Given the description of an element on the screen output the (x, y) to click on. 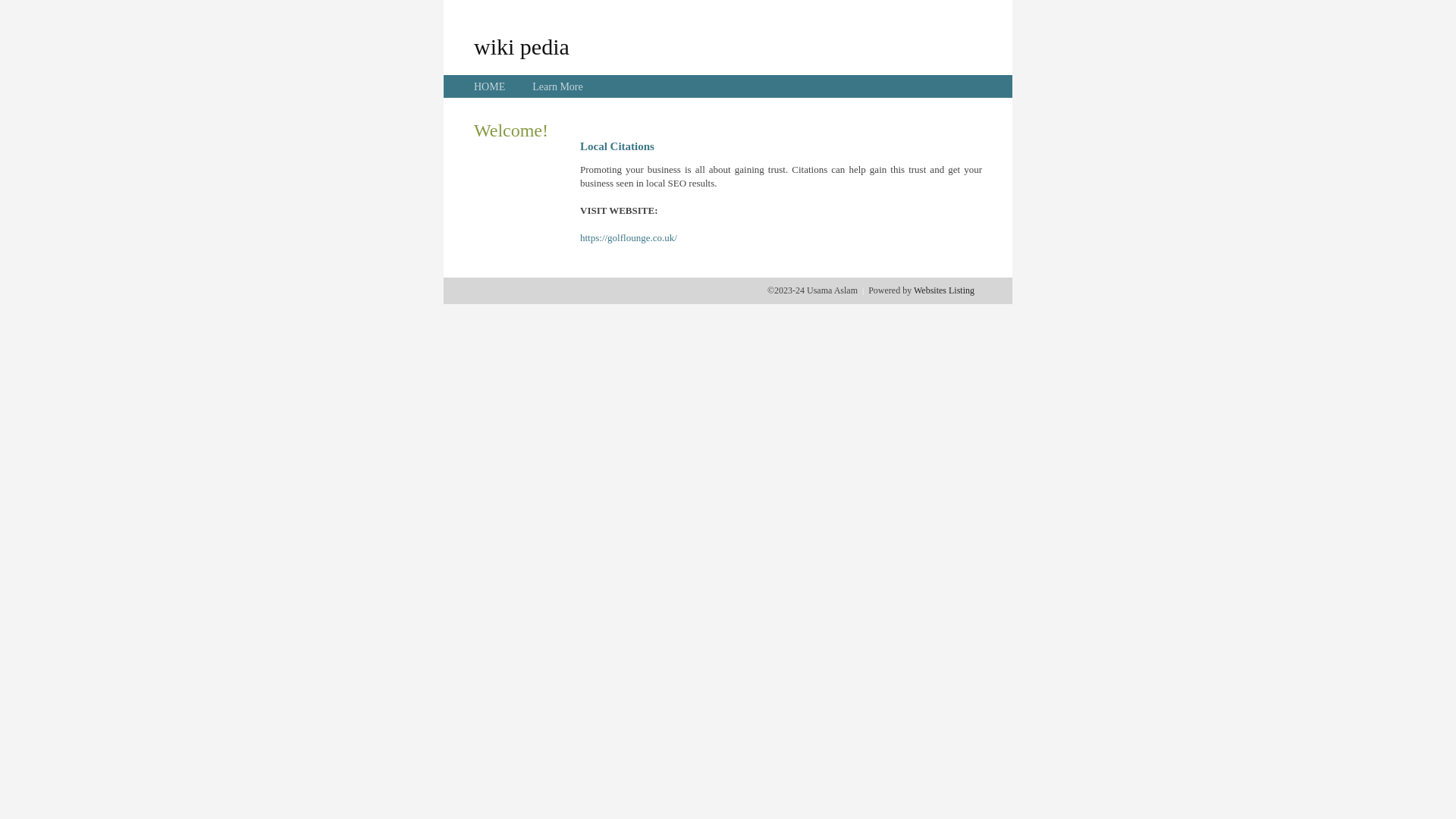
Learn More Element type: text (557, 86)
Websites Listing Element type: text (943, 290)
HOME Element type: text (489, 86)
https://golflounge.co.uk/ Element type: text (628, 237)
wiki pedia Element type: text (521, 46)
